Given the description of an element on the screen output the (x, y) to click on. 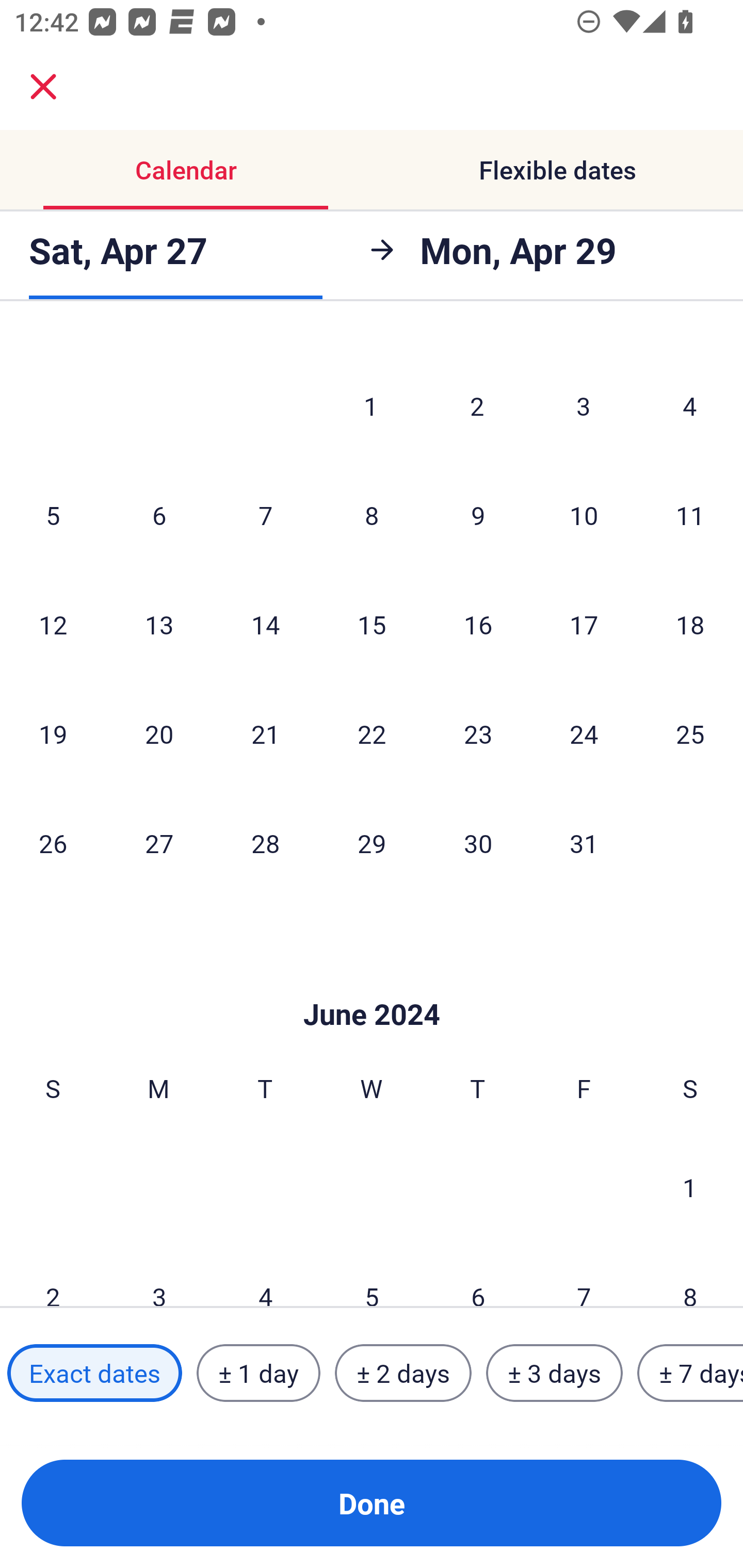
close. (43, 86)
Flexible dates (557, 170)
1 Wednesday, May 1, 2024 (371, 404)
2 Thursday, May 2, 2024 (477, 404)
3 Friday, May 3, 2024 (583, 404)
4 Saturday, May 4, 2024 (689, 404)
5 Sunday, May 5, 2024 (53, 514)
6 Monday, May 6, 2024 (159, 514)
7 Tuesday, May 7, 2024 (265, 514)
8 Wednesday, May 8, 2024 (371, 514)
9 Thursday, May 9, 2024 (477, 514)
10 Friday, May 10, 2024 (584, 514)
11 Saturday, May 11, 2024 (690, 514)
12 Sunday, May 12, 2024 (53, 623)
13 Monday, May 13, 2024 (159, 623)
14 Tuesday, May 14, 2024 (265, 623)
15 Wednesday, May 15, 2024 (371, 623)
16 Thursday, May 16, 2024 (477, 623)
17 Friday, May 17, 2024 (584, 623)
18 Saturday, May 18, 2024 (690, 623)
19 Sunday, May 19, 2024 (53, 733)
20 Monday, May 20, 2024 (159, 733)
21 Tuesday, May 21, 2024 (265, 733)
22 Wednesday, May 22, 2024 (371, 733)
23 Thursday, May 23, 2024 (477, 733)
24 Friday, May 24, 2024 (584, 733)
25 Saturday, May 25, 2024 (690, 733)
26 Sunday, May 26, 2024 (53, 842)
27 Monday, May 27, 2024 (159, 842)
28 Tuesday, May 28, 2024 (265, 842)
29 Wednesday, May 29, 2024 (371, 842)
30 Thursday, May 30, 2024 (477, 842)
31 Friday, May 31, 2024 (584, 842)
Skip to Done (371, 983)
1 Saturday, June 1, 2024 (689, 1186)
2 Sunday, June 2, 2024 (53, 1274)
3 Monday, June 3, 2024 (159, 1274)
4 Tuesday, June 4, 2024 (265, 1274)
5 Wednesday, June 5, 2024 (371, 1274)
6 Thursday, June 6, 2024 (477, 1274)
7 Friday, June 7, 2024 (584, 1274)
8 Saturday, June 8, 2024 (690, 1274)
Exact dates (94, 1372)
± 1 day (258, 1372)
± 2 days (403, 1372)
± 3 days (553, 1372)
± 7 days (690, 1372)
Done (371, 1502)
